Given the description of an element on the screen output the (x, y) to click on. 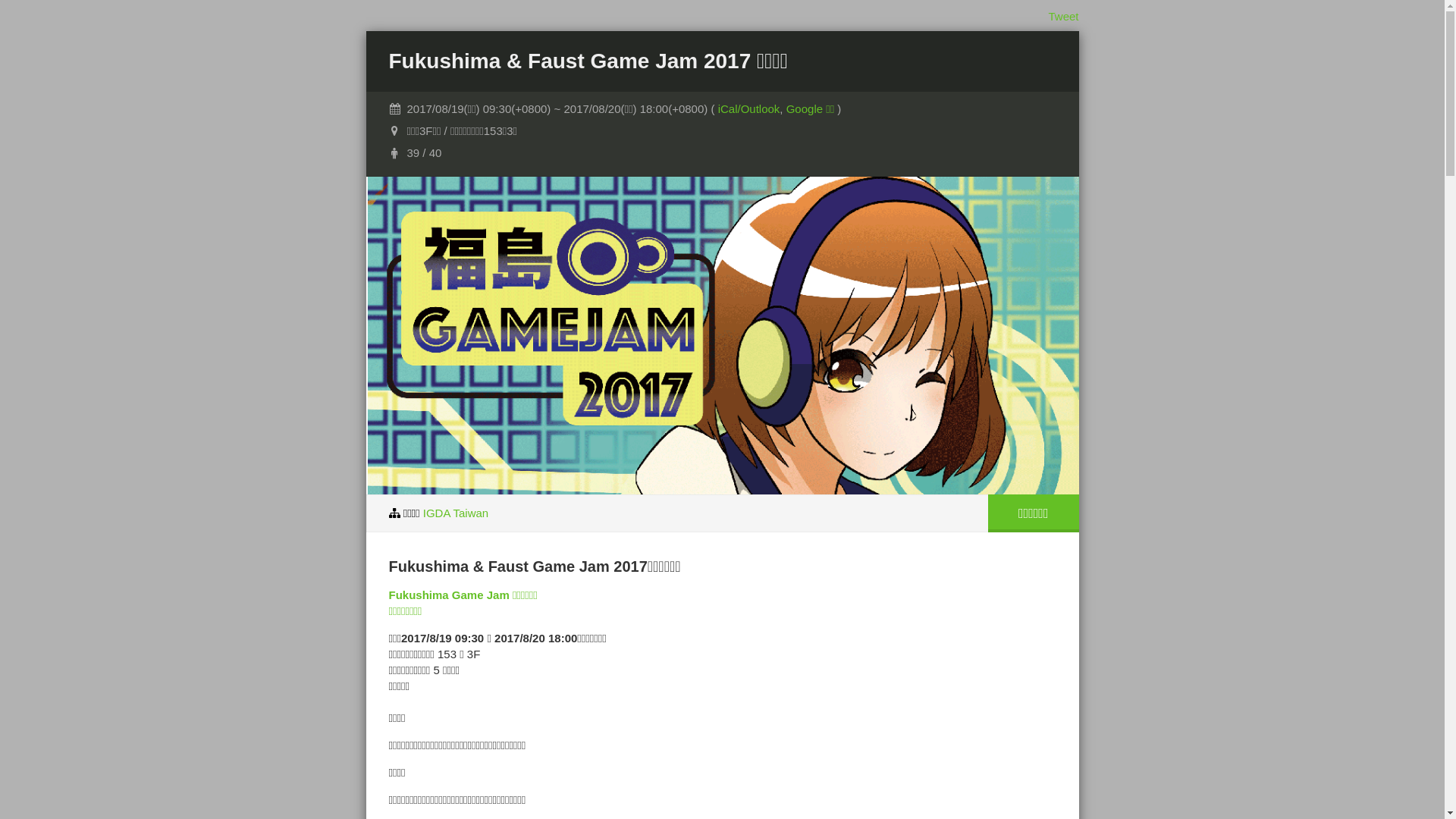
iCal/Outlook Element type: text (749, 108)
IGDA Taiwan Element type: text (455, 512)
Tweet Element type: text (1063, 15)
